Given the description of an element on the screen output the (x, y) to click on. 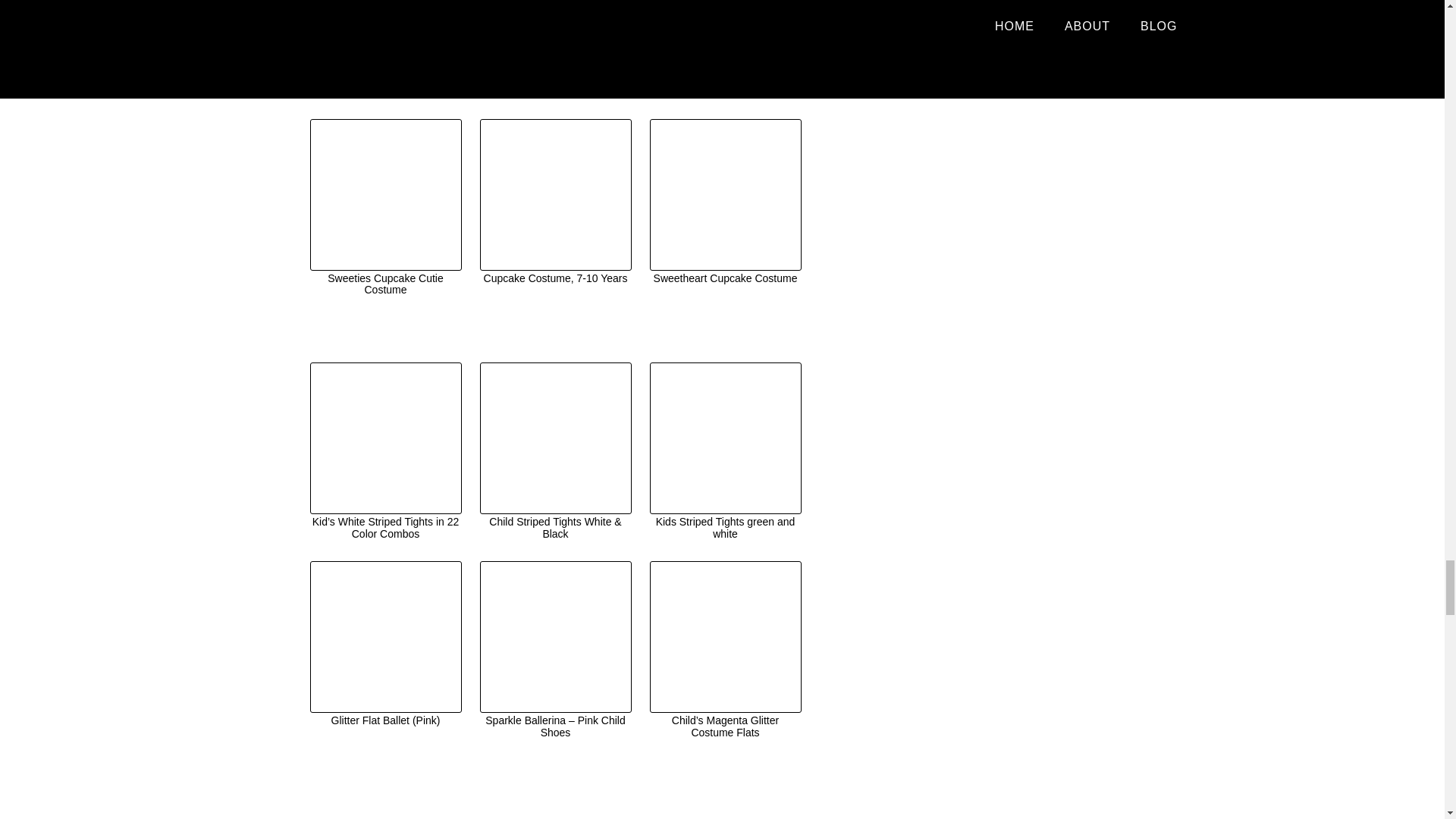
Cupcake Costume, 7-10 Years (554, 202)
Sweetheart Cupcake Costume (724, 202)
